Given the description of an element on the screen output the (x, y) to click on. 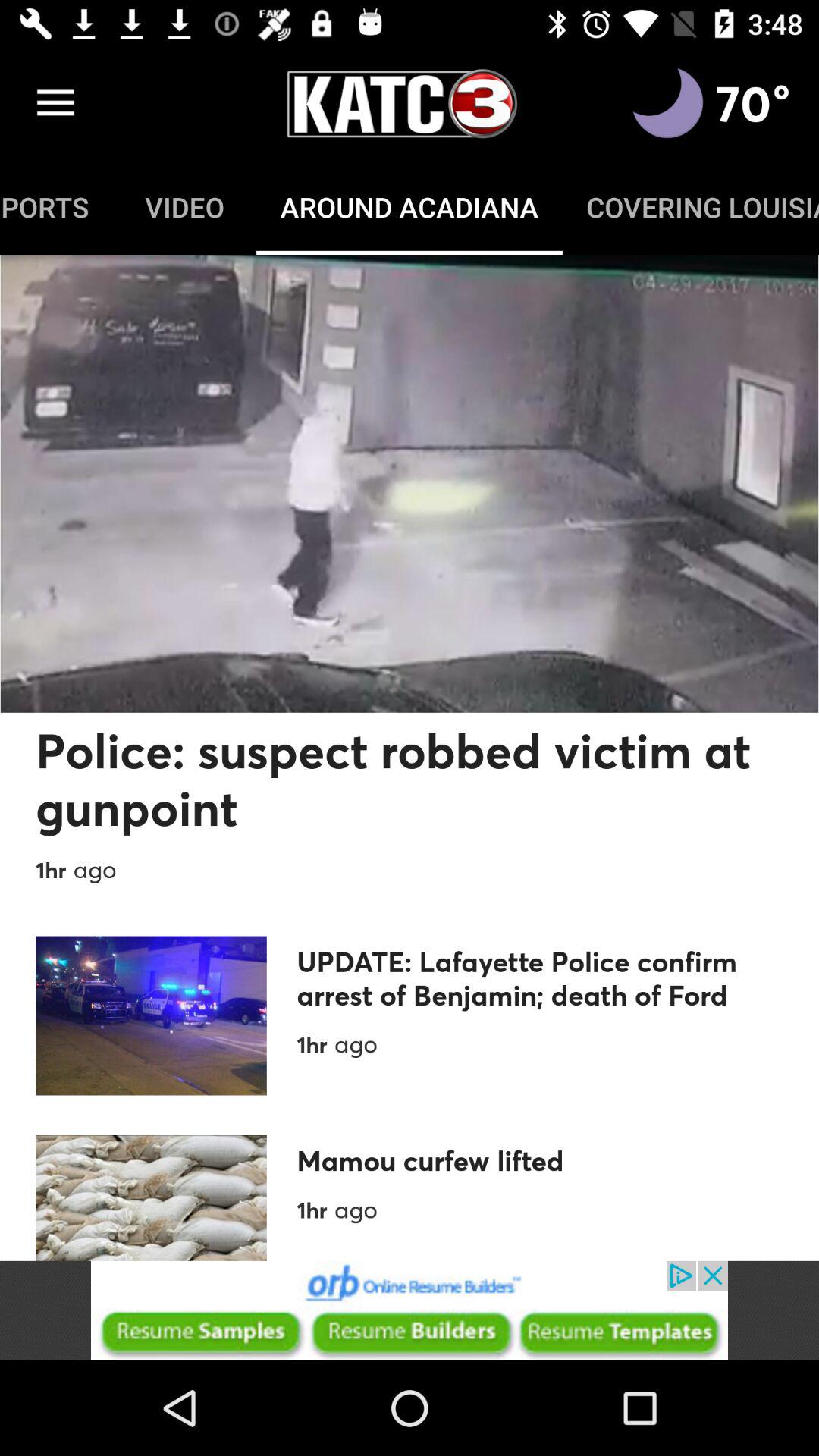
go to the advertised site (409, 1310)
